Given the description of an element on the screen output the (x, y) to click on. 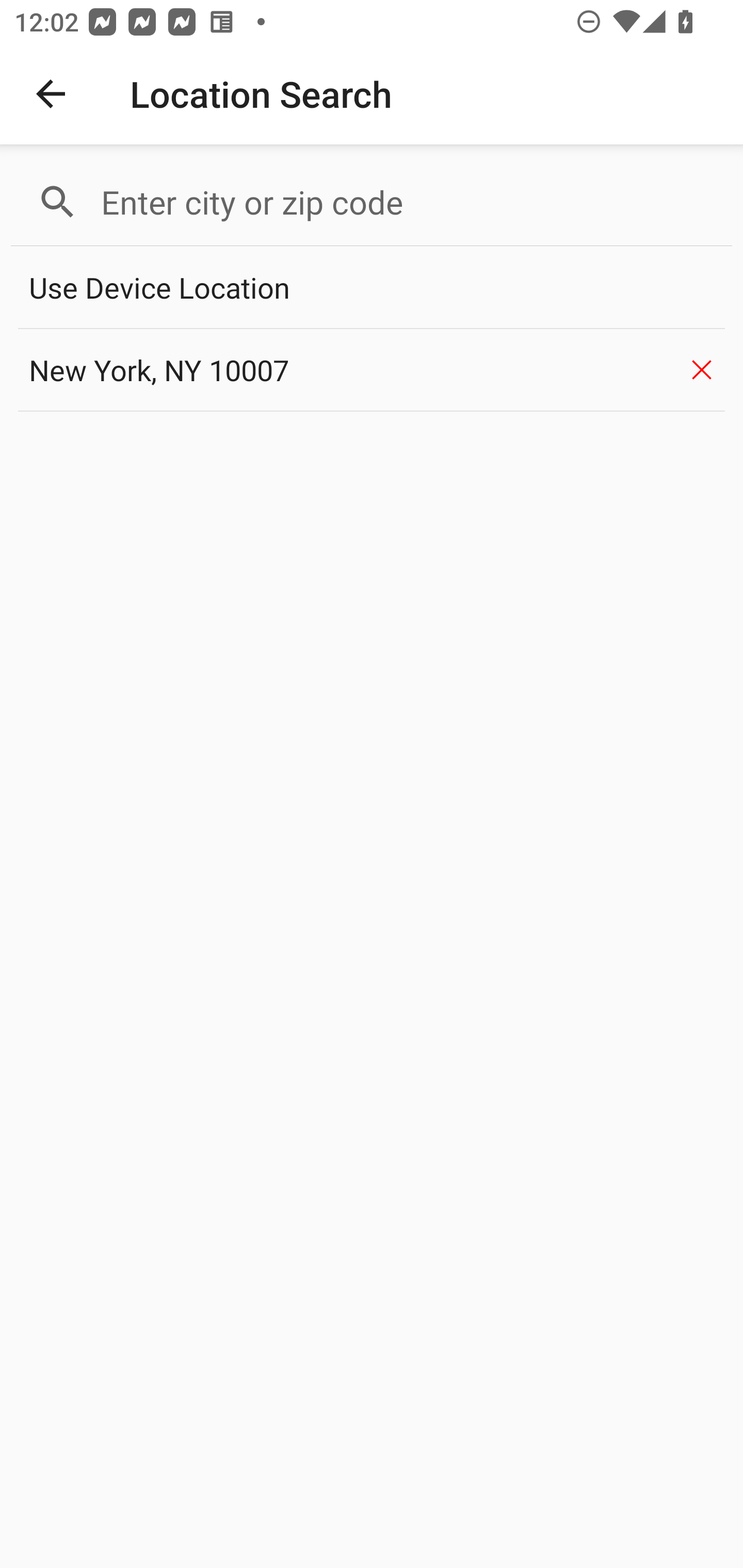
Navigate up (50, 93)
Enter city or zip code (407, 202)
Use Device Location (371, 287)
